Given the description of an element on the screen output the (x, y) to click on. 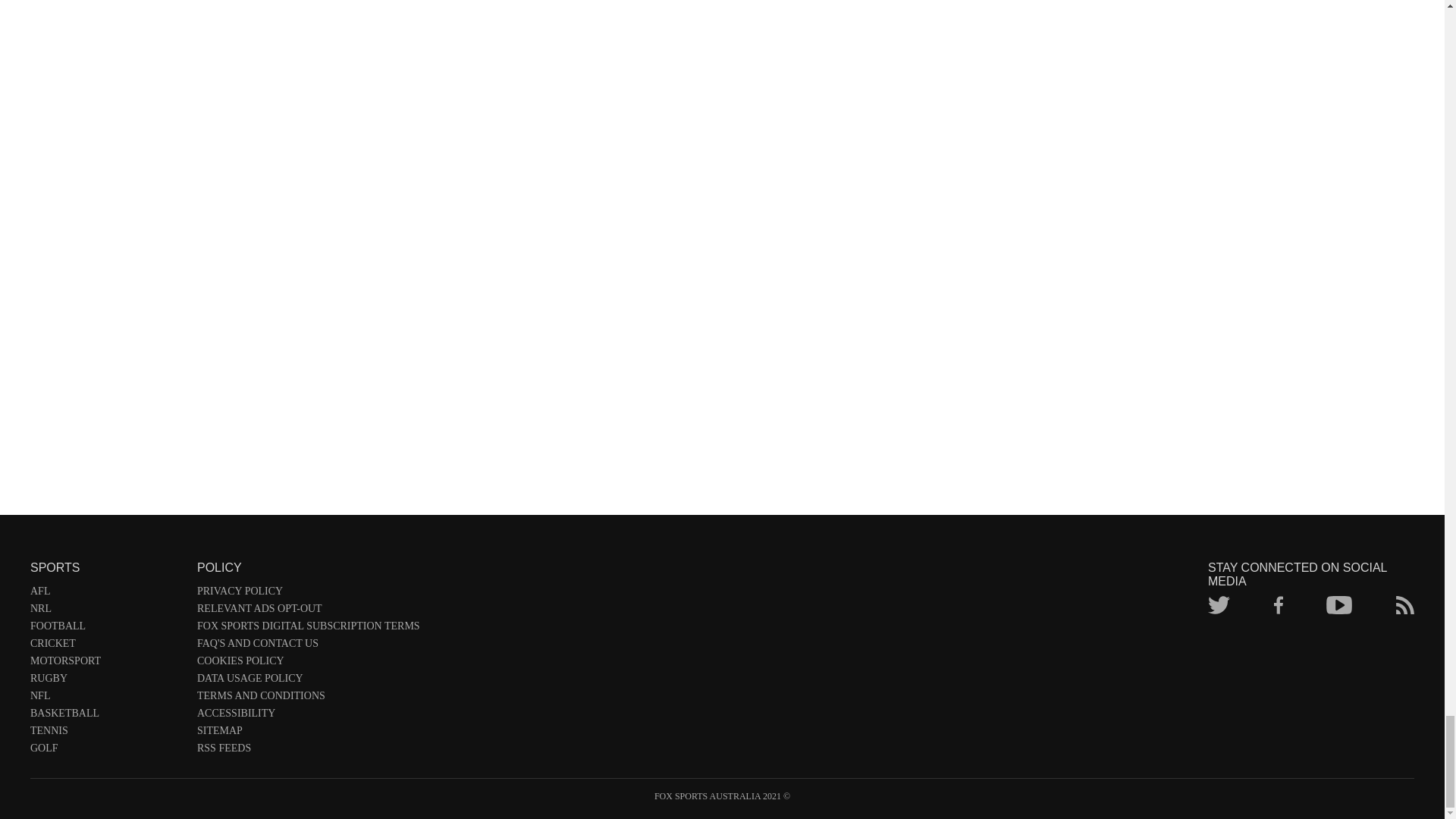
COOKIES POLICY (308, 663)
AFL (106, 593)
BASKETBALL (106, 715)
RELEVANT ADS OPT-OUT (308, 610)
DATA USAGE POLICY (308, 681)
CRICKET (106, 646)
TERMS AND CONDITIONS (308, 698)
MOTORSPORT (106, 663)
FOOTBALL (106, 628)
FAQ'S AND CONTACT US (308, 646)
FOX SPORTS DIGITAL SUBSCRIPTION TERMS (308, 628)
SITEMAP (308, 733)
RUGBY (106, 681)
RSS FEEDS (308, 751)
GOLF (106, 751)
